Given the description of an element on the screen output the (x, y) to click on. 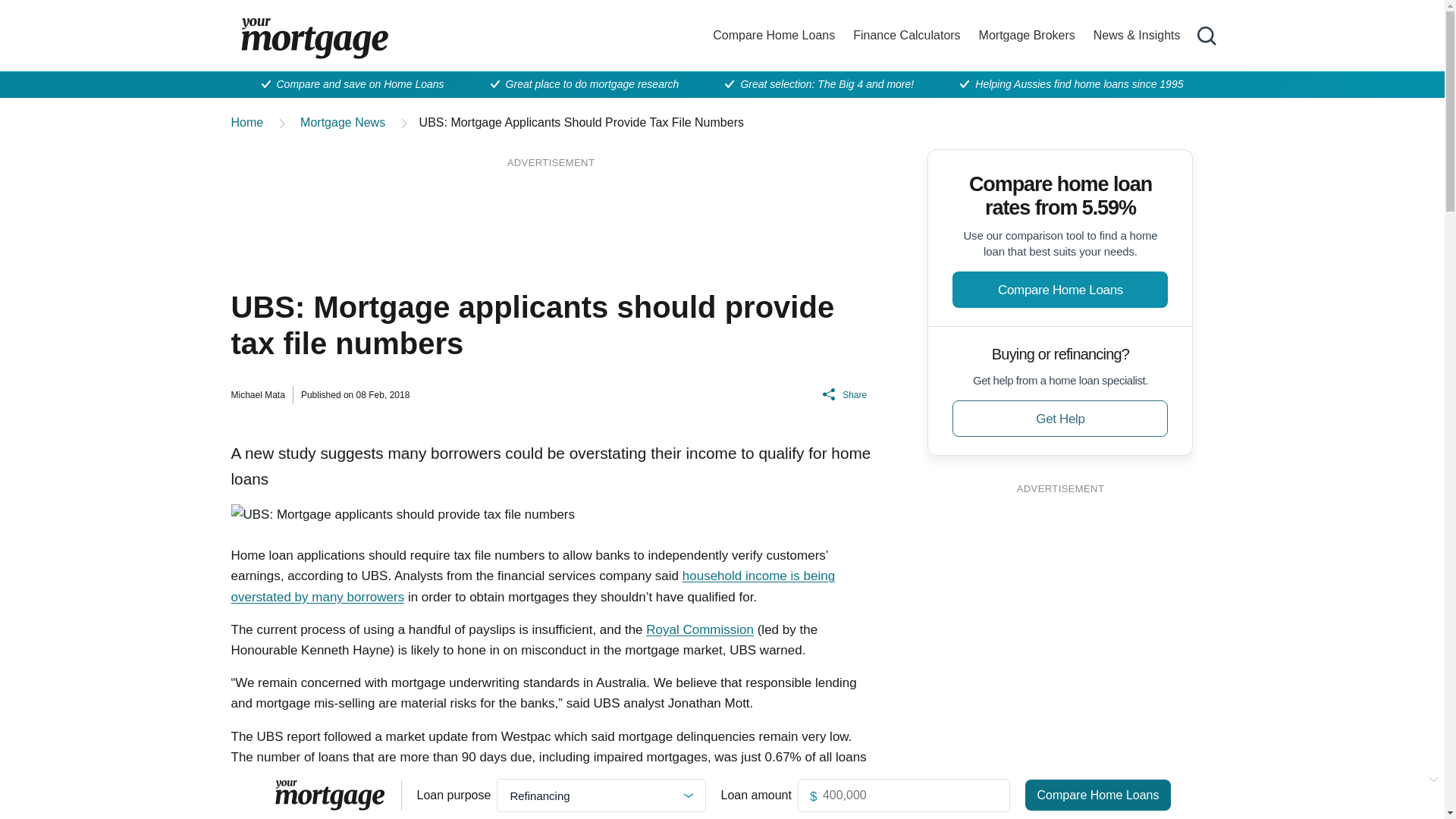
3rd party ad content (1059, 599)
Posts by Michael Mata (256, 394)
3rd party ad content (551, 212)
